Given the description of an element on the screen output the (x, y) to click on. 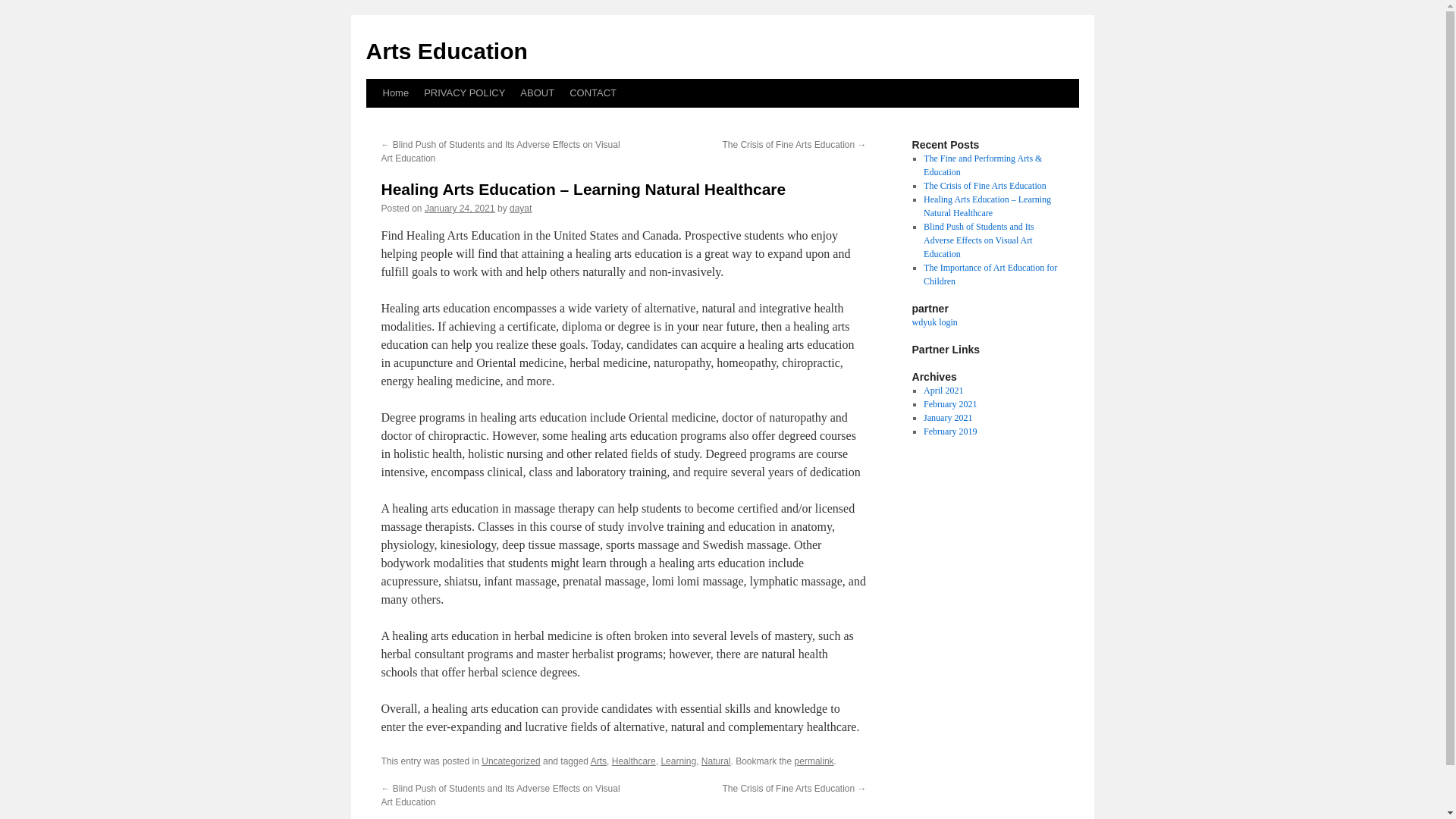
The Crisis of Fine Arts Education (984, 185)
Arts (599, 760)
The Importance of Art Education for Children (990, 274)
ABOUT (537, 92)
permalink (814, 760)
CONTACT (593, 92)
View all posts by dayat (520, 208)
PRIVACY POLICY (464, 92)
February 2019 (949, 430)
Home (395, 92)
Healthcare (633, 760)
Home (395, 92)
April 2021 (942, 389)
View all posts in Uncategorized (510, 760)
The Crisis of Fine Arts Education (984, 185)
